Given the description of an element on the screen output the (x, y) to click on. 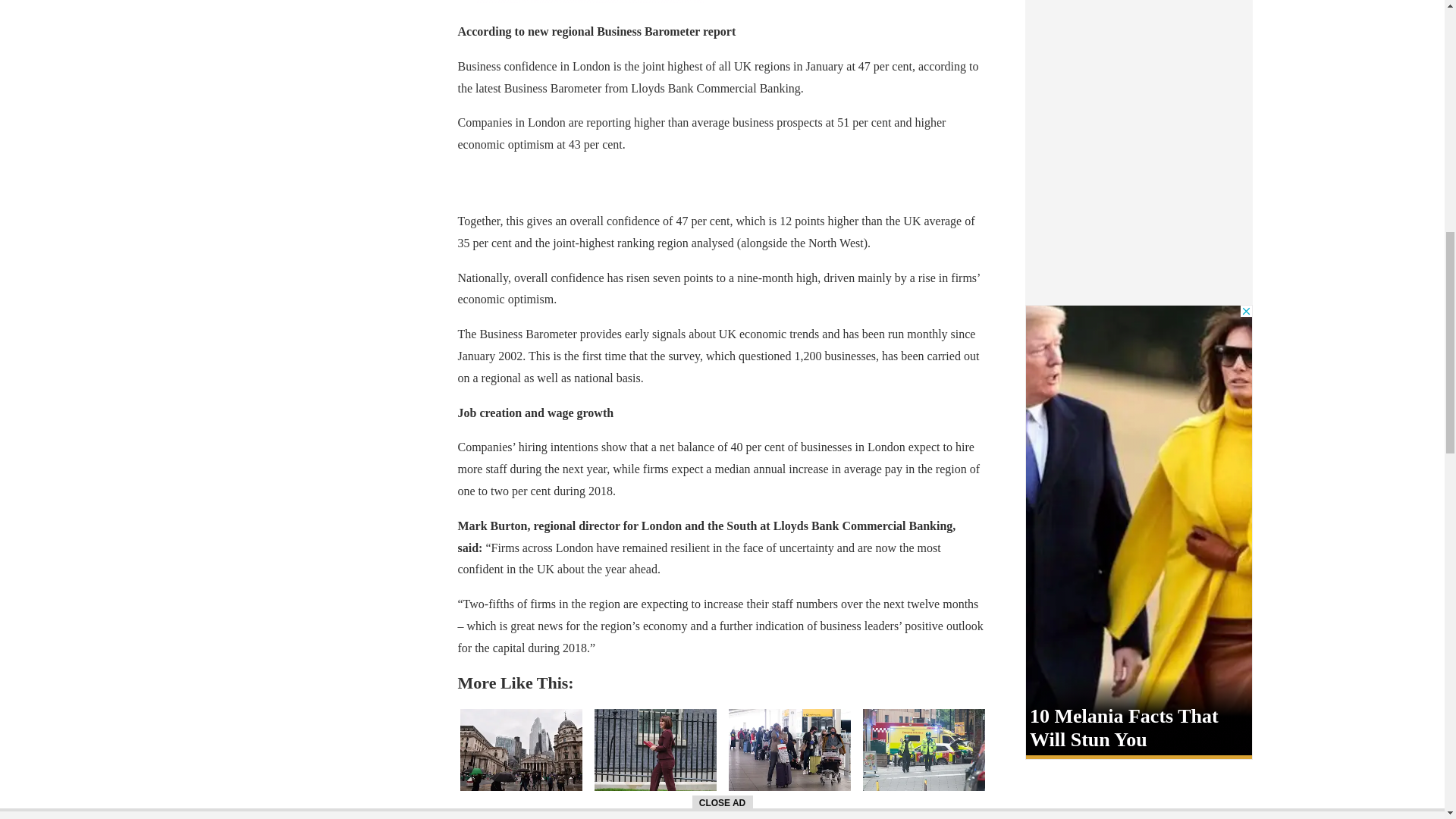
London business confidence fell in June (520, 749)
3rd party ad content (589, 1)
